Given the description of an element on the screen output the (x, y) to click on. 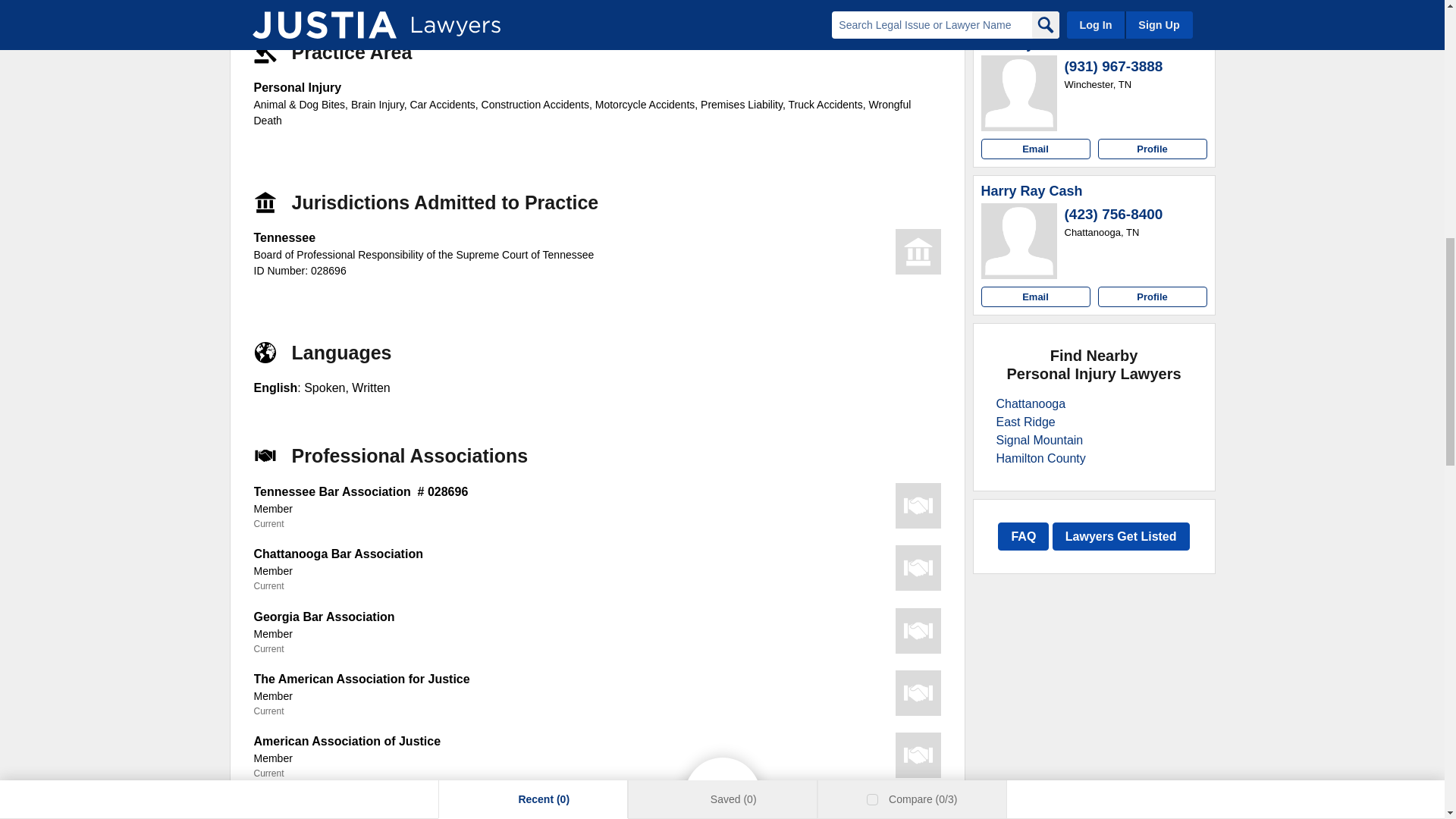
Timothy Scott Priest (1047, 44)
